Given the description of an element on the screen output the (x, y) to click on. 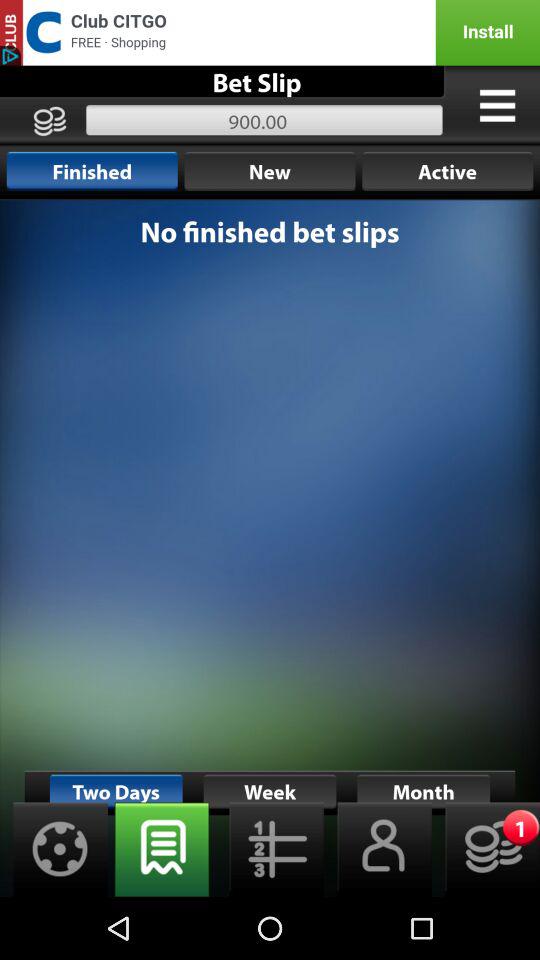
bet slip app page content (270, 548)
